Given the description of an element on the screen output the (x, y) to click on. 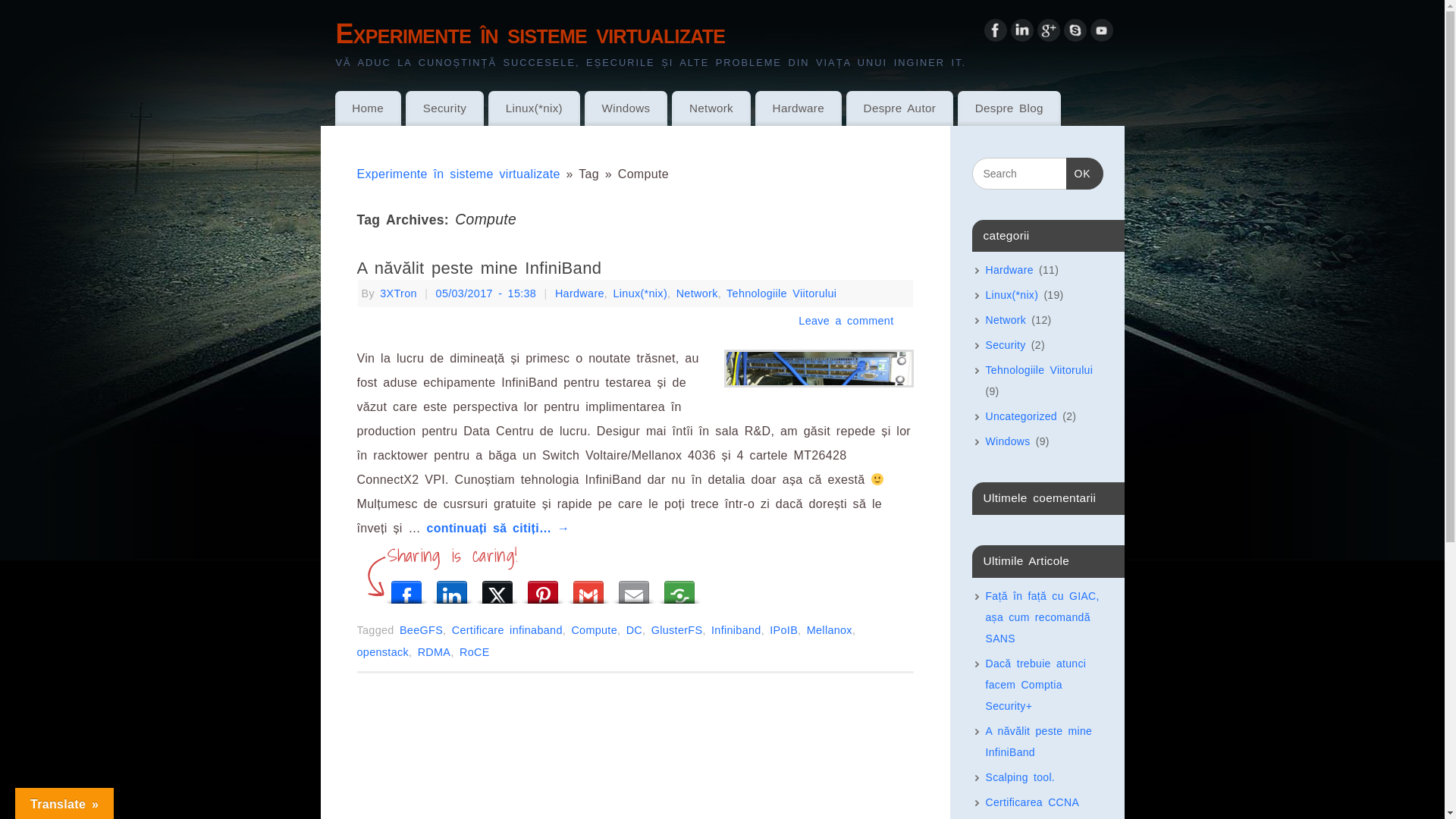
Mellanox Element type: text (829, 630)
Network Element type: text (1005, 319)
3XTron Element type: text (398, 293)
GlusterFS Element type: text (676, 630)
Hardware Element type: text (579, 293)
Scalping tool. Element type: text (1020, 777)
Skype Element type: hover (1074, 34)
Email This Element type: hover (633, 588)
Security Element type: text (1005, 344)
Windows Element type: text (625, 108)
DC Element type: text (634, 630)
Leave a comment Element type: text (845, 320)
Certificare infinaband Element type: text (506, 630)
Security Element type: text (444, 108)
05/03/2017 - 15:38 Element type: text (486, 293)
IPoIB Element type: text (783, 630)
Despre Blog Element type: text (1008, 108)
More Options Element type: hover (679, 588)
Tehnologiile Viitorului Element type: text (1039, 370)
X (Twitter) Element type: hover (497, 588)
Facebook Element type: hover (406, 588)
Infiniband Element type: text (736, 630)
Google Gmail Element type: hover (588, 588)
openstack Element type: text (381, 652)
OK Element type: text (1084, 173)
Linux(*nix) Element type: text (534, 108)
LinkedIn Element type: hover (451, 588)
Linux(*nix) Element type: text (639, 293)
Windows Element type: text (1007, 441)
BeeGFS Element type: text (420, 630)
RoCE Element type: text (474, 652)
Facebook Element type: hover (995, 34)
Hardware Element type: text (1009, 269)
YouTube Element type: hover (1101, 34)
Network Element type: text (697, 293)
Linux(*nix) Element type: text (1011, 294)
Uncategorized Element type: text (1021, 416)
Compute Element type: text (594, 630)
Pinterest Element type: hover (542, 588)
Hardware Element type: text (798, 108)
Network Element type: text (710, 108)
Despre Autor Element type: text (899, 108)
RDMA Element type: text (434, 652)
GooglePlus Element type: hover (1048, 34)
LinkedIn Element type: hover (1021, 34)
Tehnologiile Viitorului Element type: text (781, 293)
Home Element type: text (368, 108)
